Given the description of an element on the screen output the (x, y) to click on. 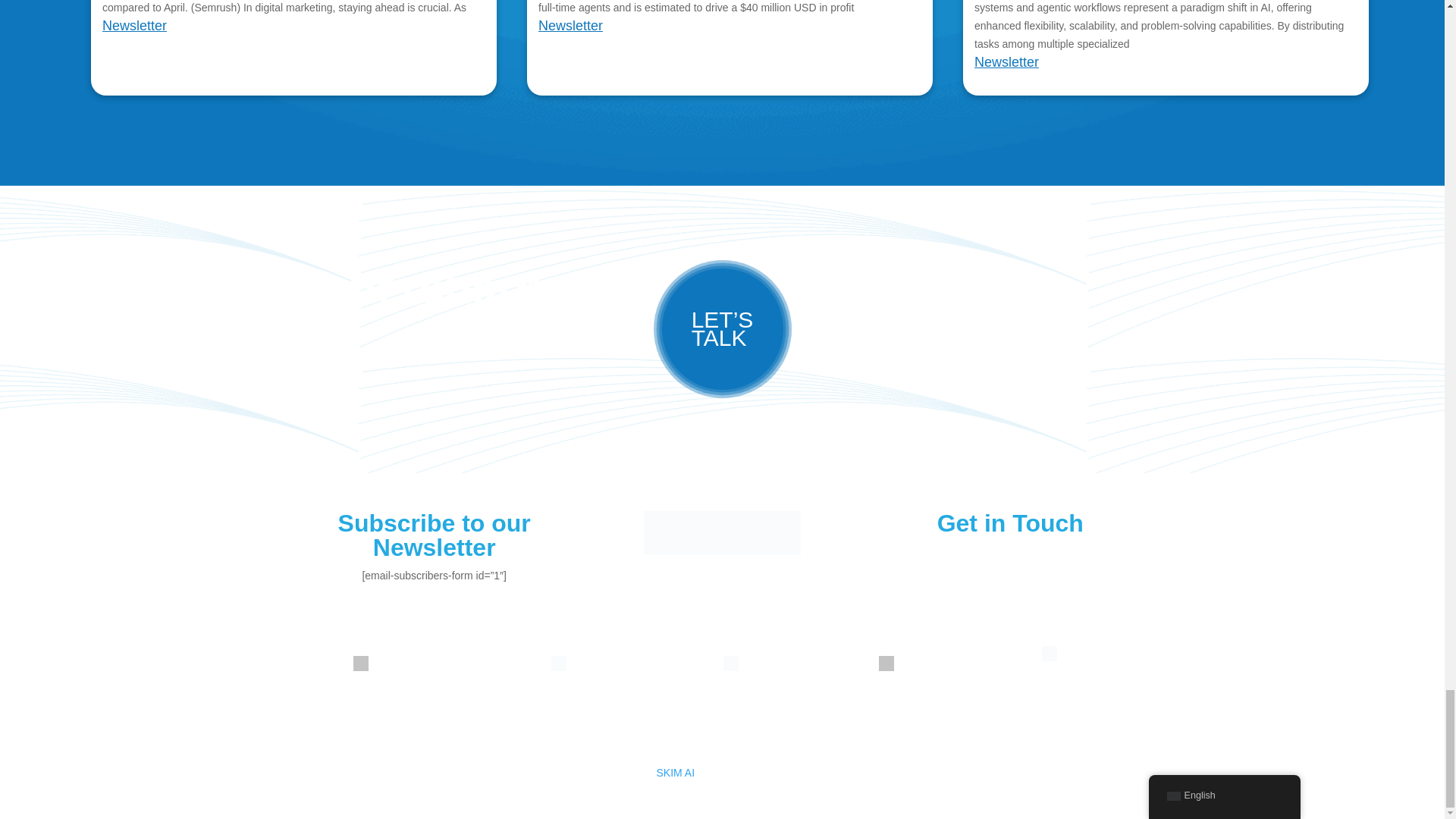
grandient logo (721, 533)
